Given the description of an element on the screen output the (x, y) to click on. 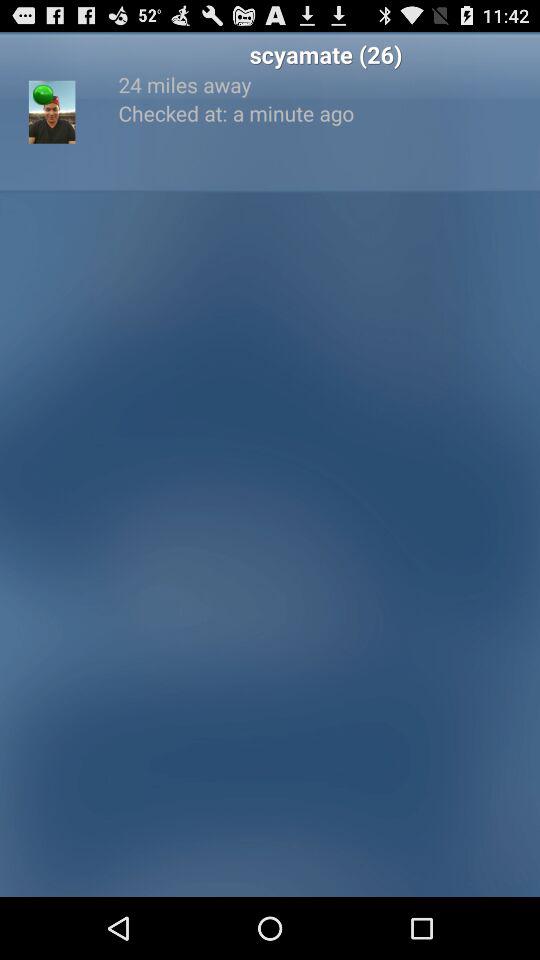
press the checked at a item (325, 112)
